Given the description of an element on the screen output the (x, y) to click on. 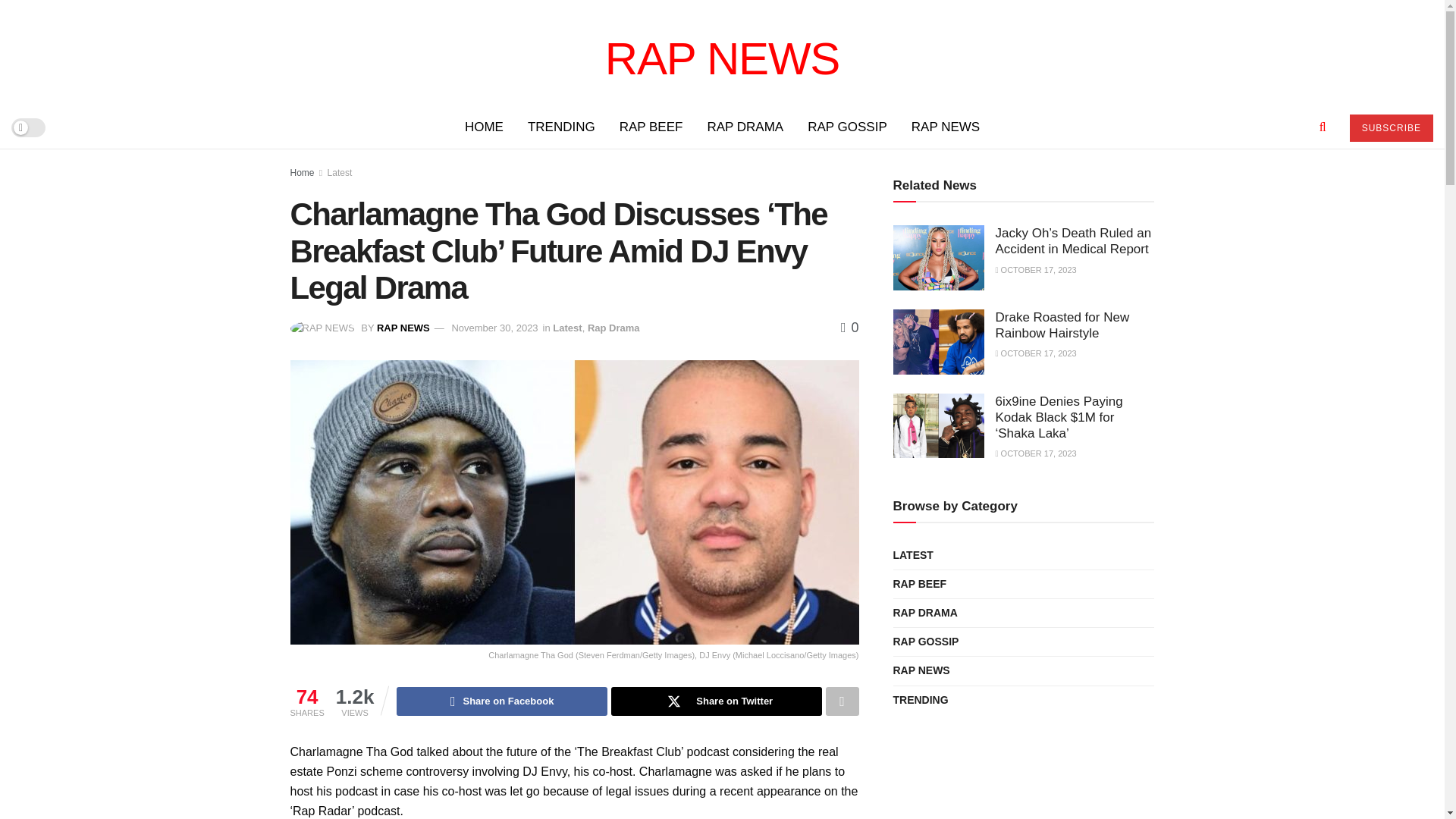
RAP DRAMA (744, 127)
Latest (339, 172)
TRENDING (561, 127)
Rap Drama (614, 327)
RAP NEWS (403, 327)
RAP BEEF (651, 127)
HOME (483, 127)
Share on Facebook (501, 701)
0 (850, 327)
SUBSCRIBE (1390, 127)
